Given the description of an element on the screen output the (x, y) to click on. 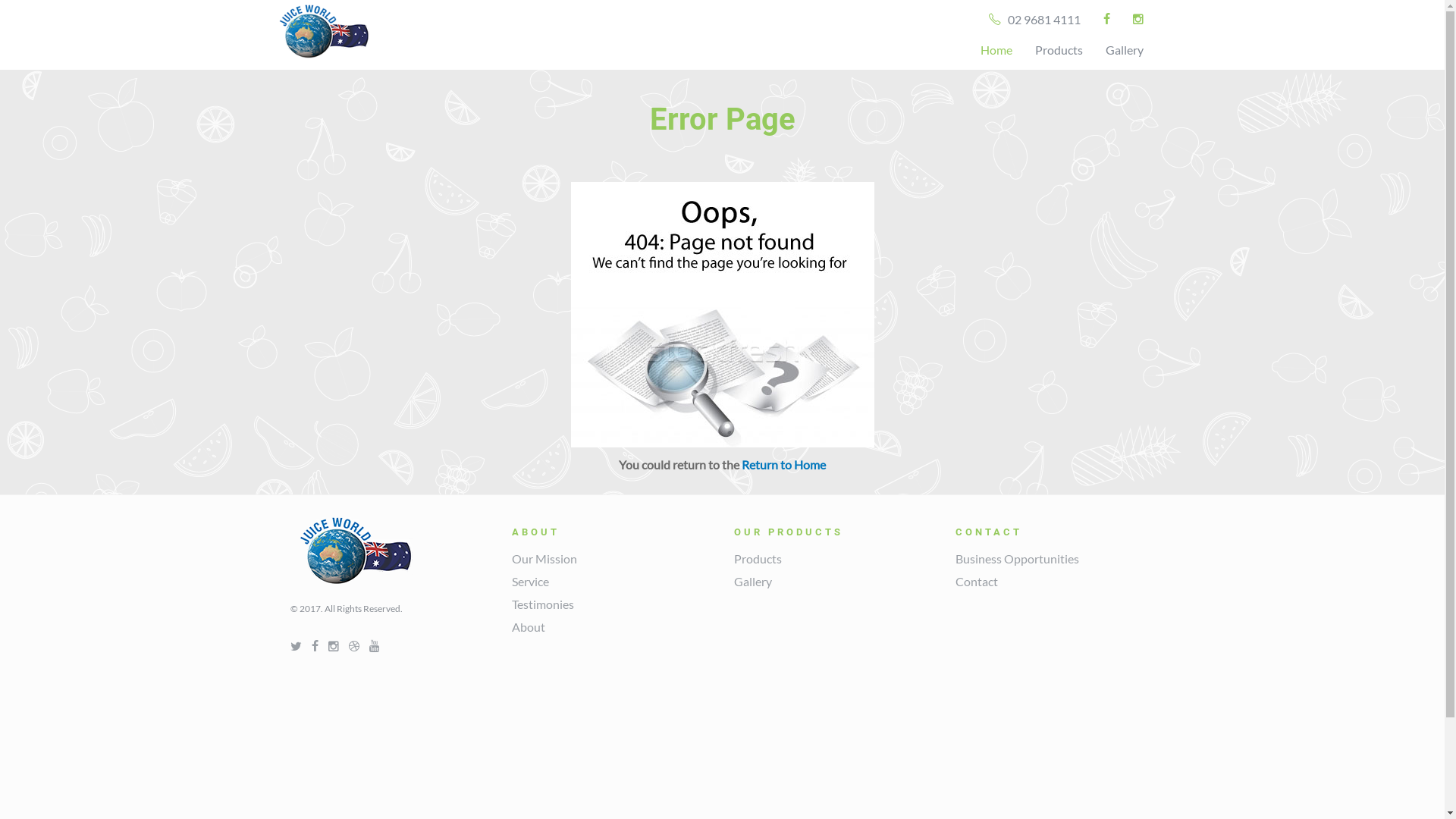
Gallery Element type: text (752, 581)
Return to Home Element type: text (783, 464)
Our Mission Element type: text (544, 558)
Testimonies Element type: text (542, 603)
Business Opportunities Element type: text (1017, 558)
Service Element type: text (530, 581)
Contact Element type: text (976, 581)
About Element type: text (528, 626)
  02 9681 4111 Element type: text (1033, 19)
Products Element type: text (1058, 49)
Home Element type: text (996, 49)
Gallery Element type: text (1123, 49)
Products Element type: text (757, 558)
